Given the description of an element on the screen output the (x, y) to click on. 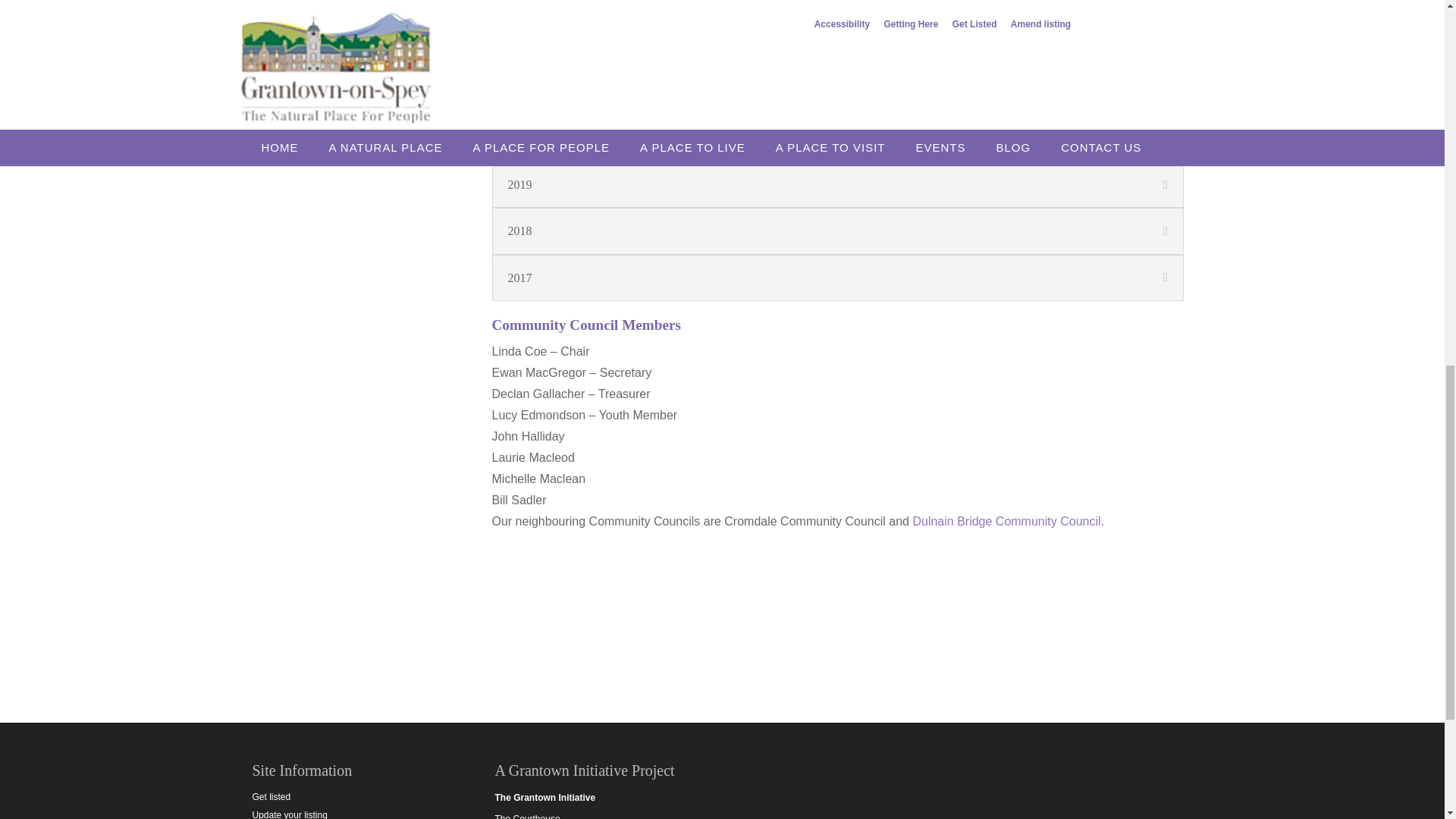
Dulnain Bridge Community Council (1006, 521)
